Given the description of an element on the screen output the (x, y) to click on. 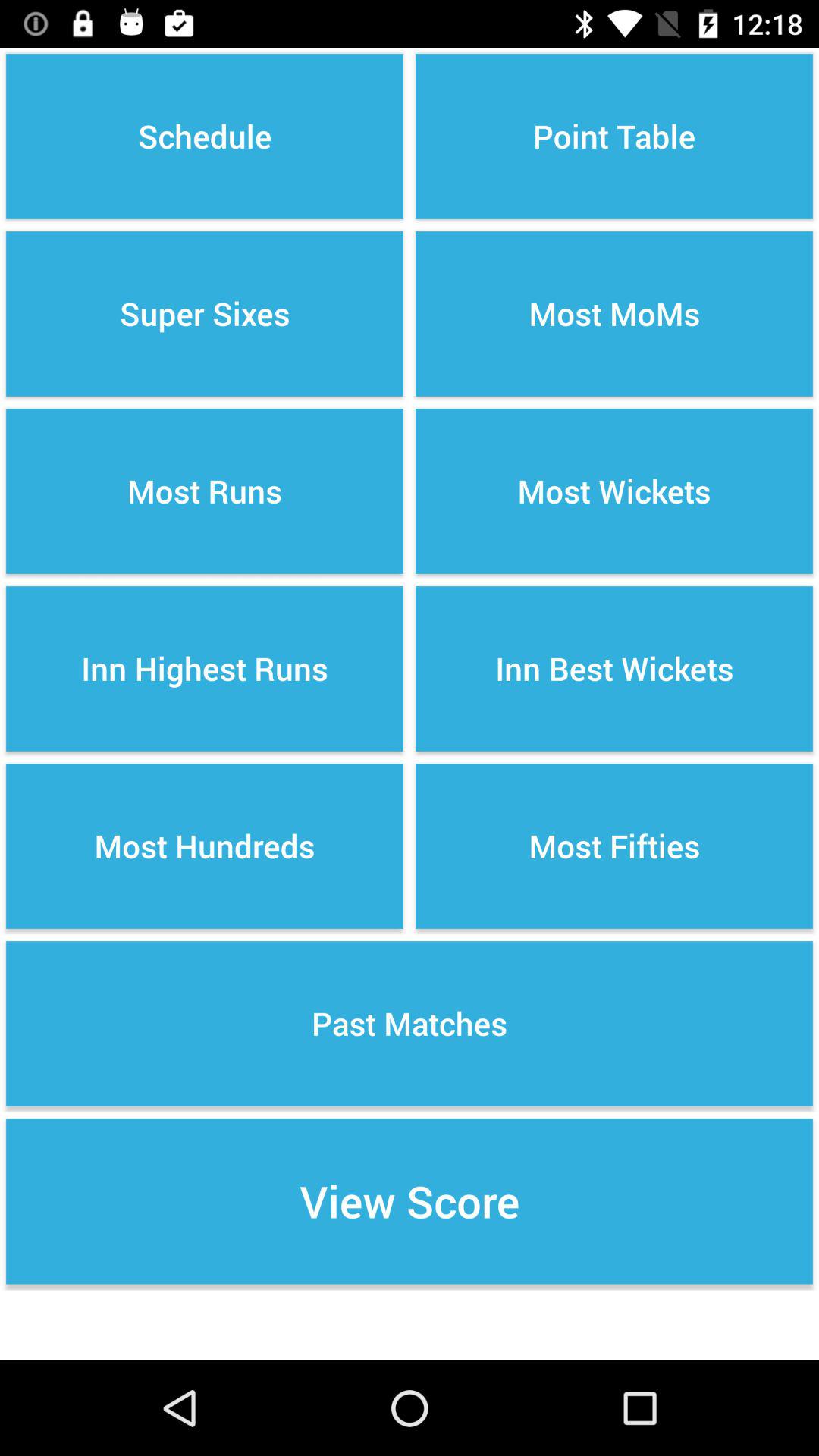
tap button to the left of the point table button (204, 136)
